Given the description of an element on the screen output the (x, y) to click on. 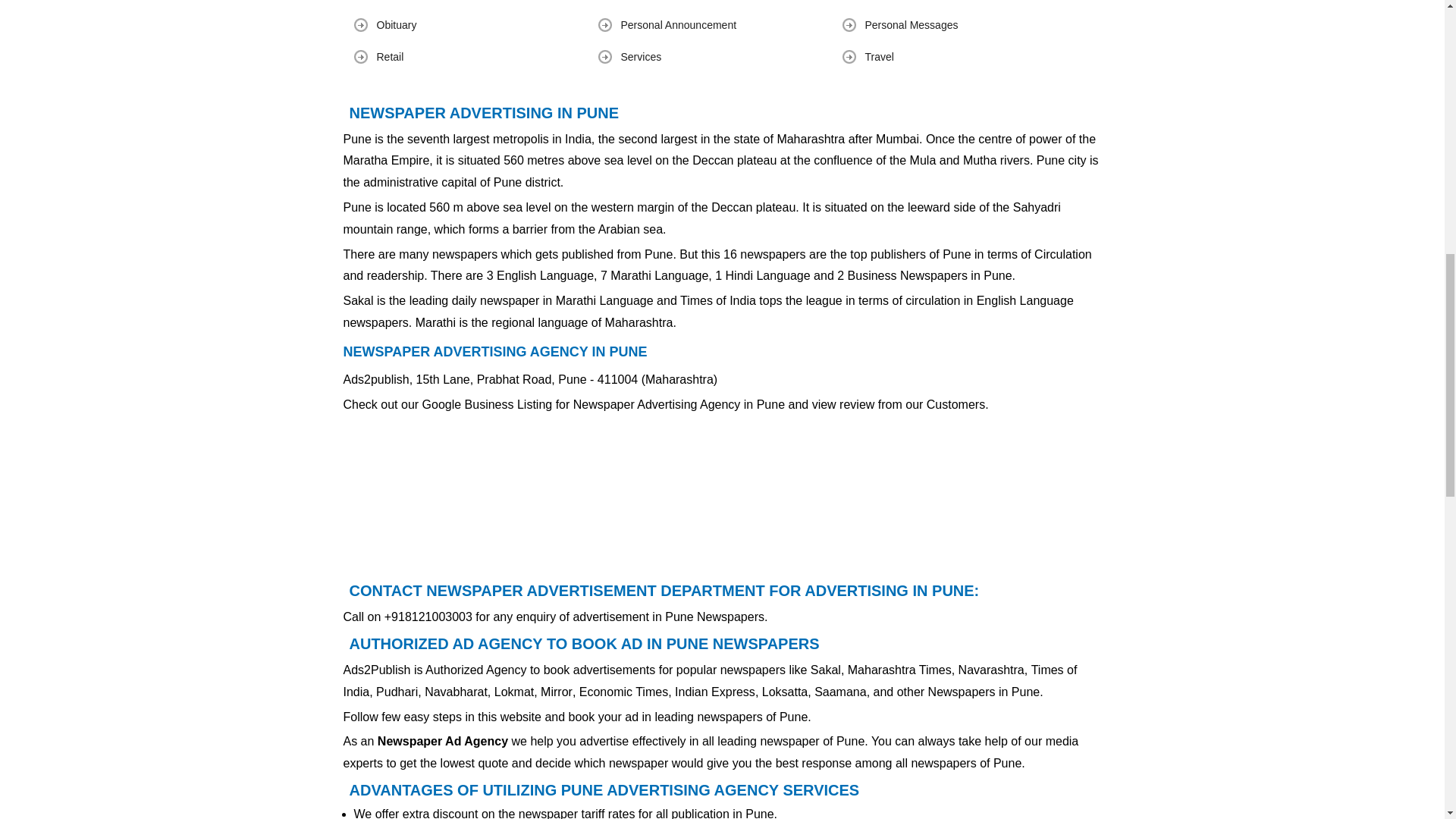
Newspaper Ad Agency (442, 740)
Travel (878, 56)
Obituary (395, 24)
Personal Messages (911, 24)
Personal Announcement (678, 24)
Newspaper Advertising Agency in Pune (678, 404)
Retail (389, 56)
Services (640, 56)
